Given the description of an element on the screen output the (x, y) to click on. 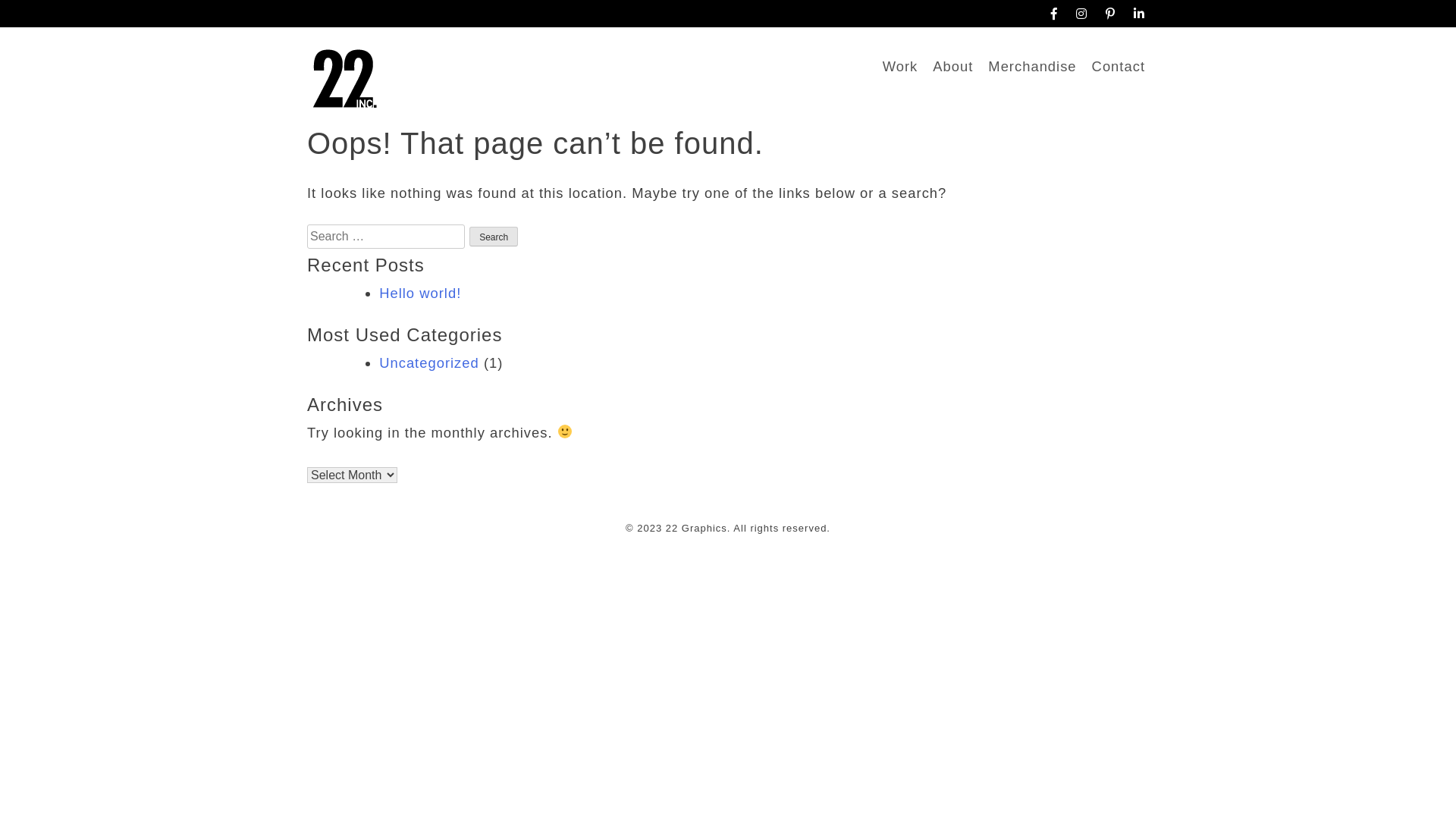
Hello world! Element type: text (420, 293)
Search Element type: text (493, 236)
Uncategorized Element type: text (429, 362)
Work Element type: text (900, 66)
Merchandise Element type: text (1032, 66)
Contact Element type: text (1118, 66)
About Element type: text (952, 66)
